Given the description of an element on the screen output the (x, y) to click on. 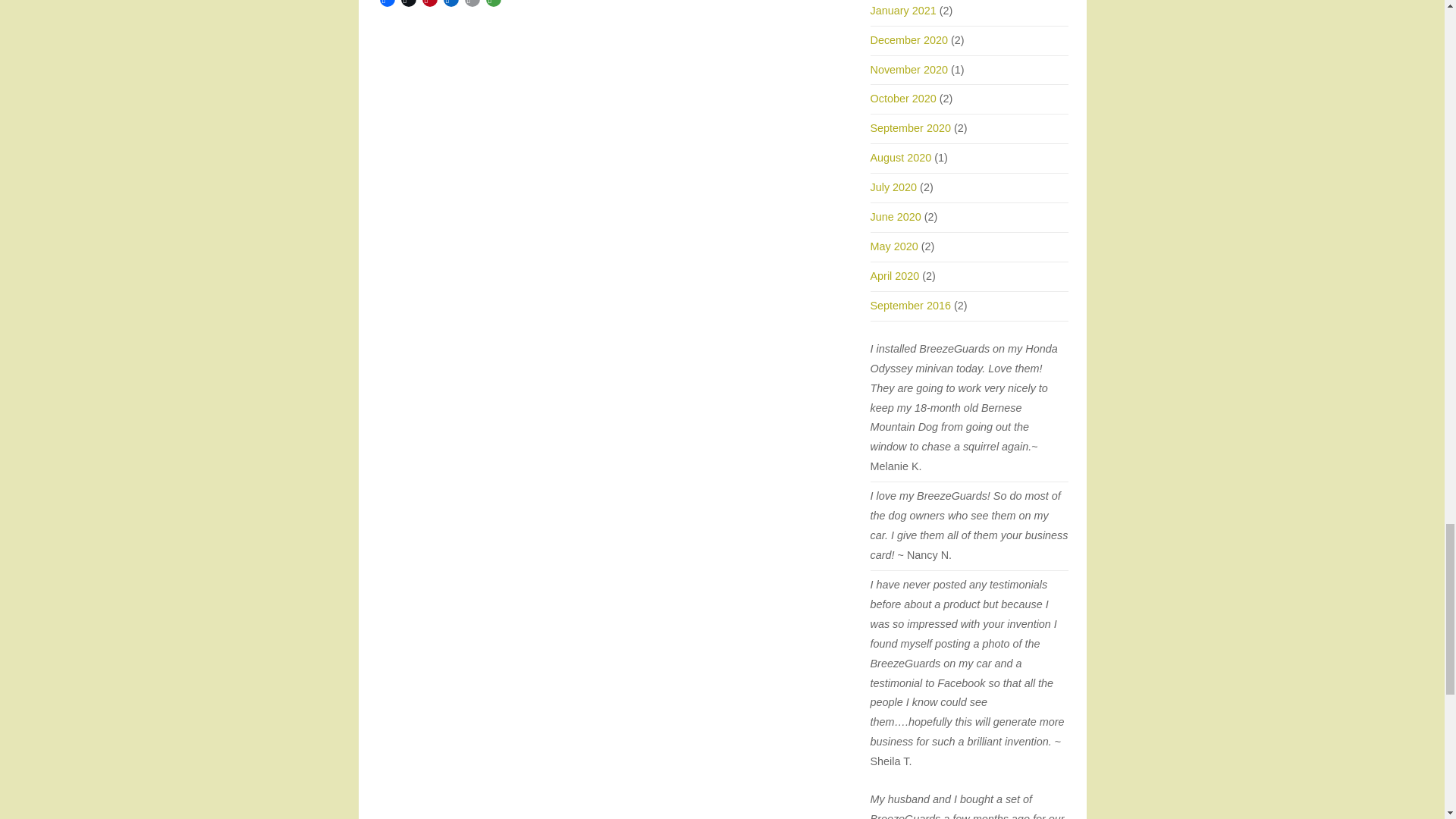
Pinterest (429, 4)
LinkedIn (450, 4)
Facebook (386, 4)
More Options (492, 4)
Email This (471, 4)
